Given the description of an element on the screen output the (x, y) to click on. 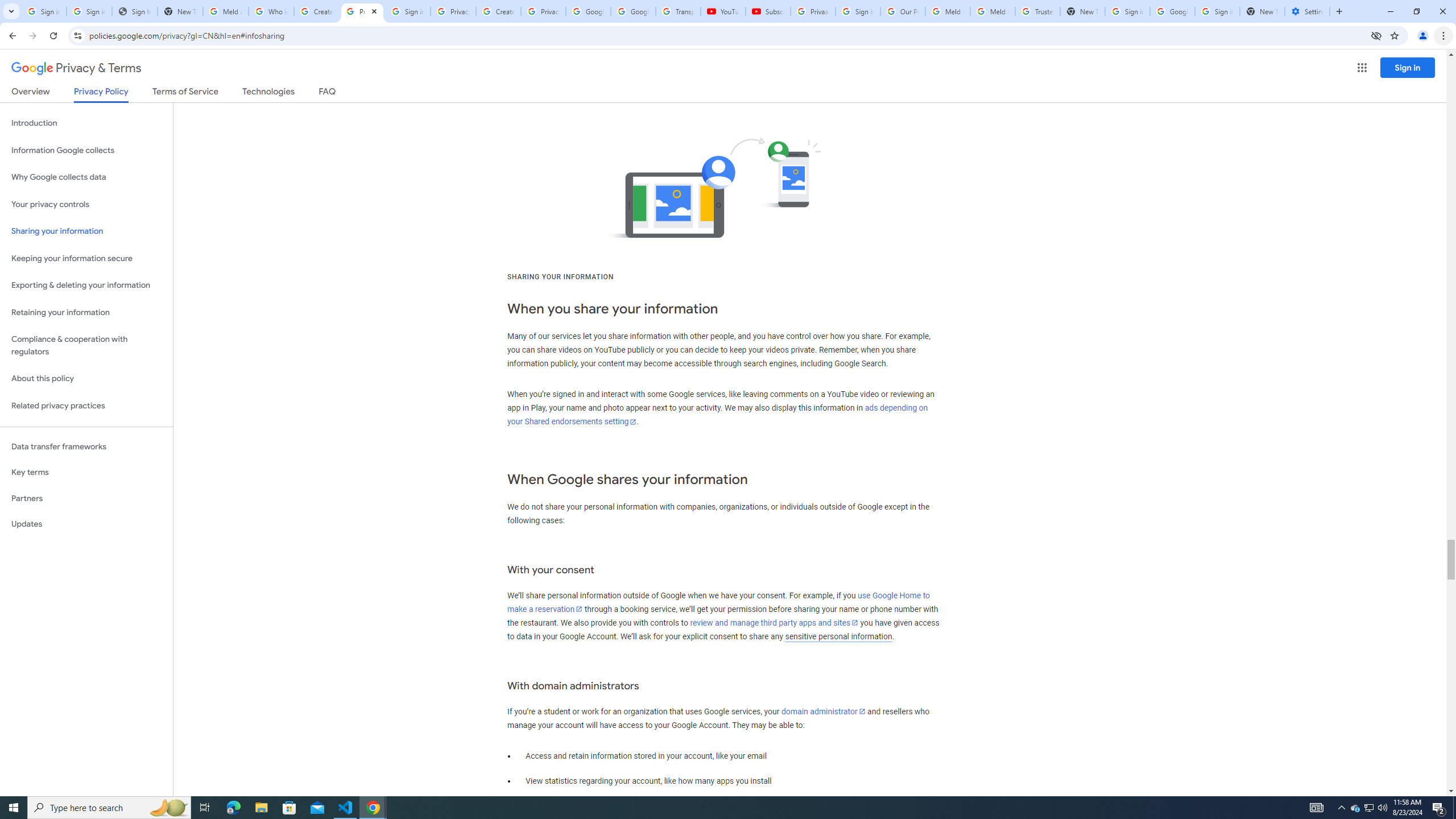
Sign in - Google Accounts (857, 11)
Create your Google Account (316, 11)
use Google Home to make a reservation (718, 602)
Settings - Addresses and more (1307, 11)
Why Google collects data (86, 176)
Partners (86, 497)
Google Account (633, 11)
